Given the description of an element on the screen output the (x, y) to click on. 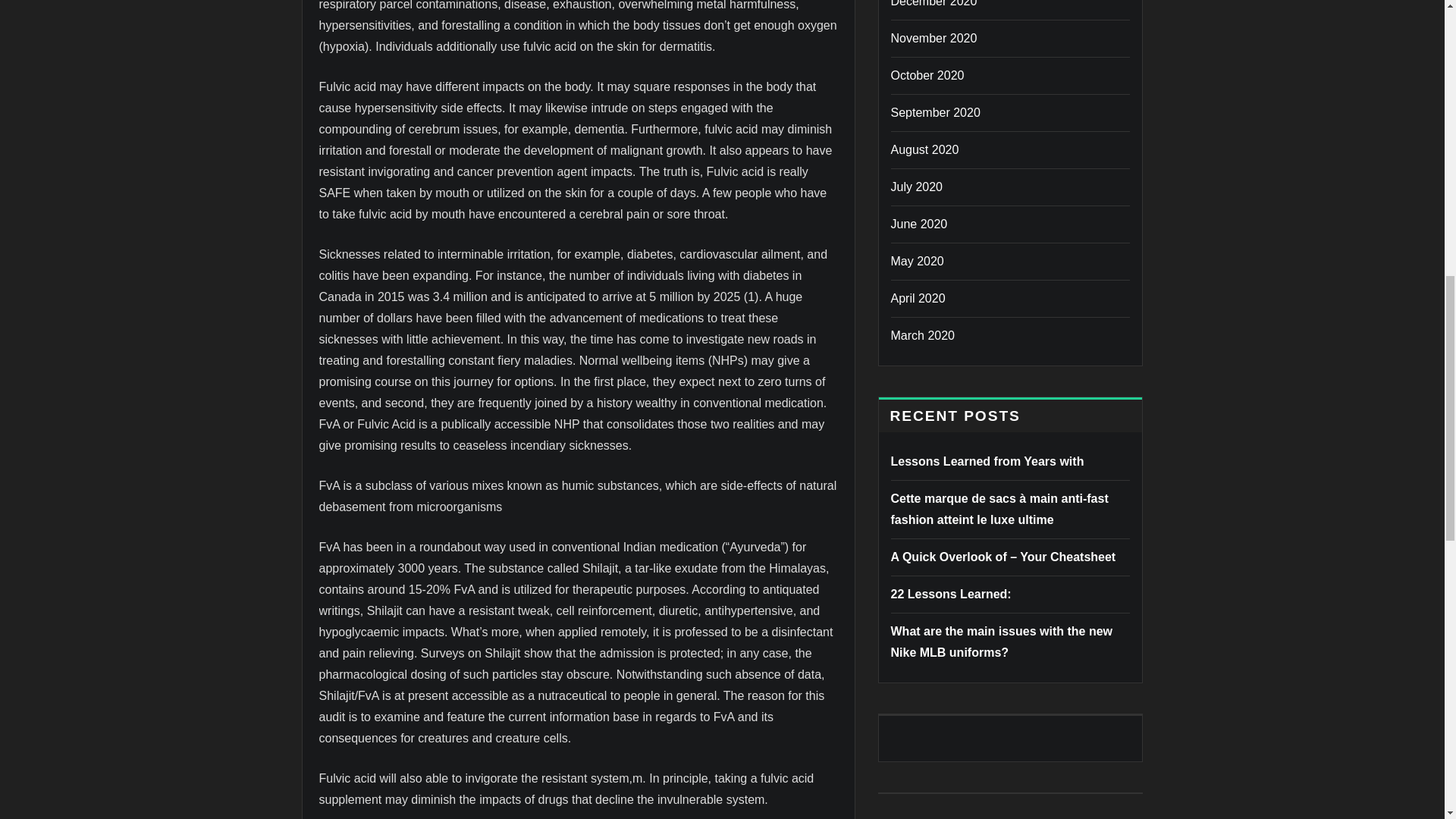
May 2020 (916, 260)
September 2020 (934, 112)
June 2020 (918, 223)
August 2020 (923, 149)
April 2020 (916, 297)
October 2020 (926, 74)
March 2020 (922, 335)
November 2020 (932, 38)
December 2020 (932, 3)
Lessons Learned from Years with (986, 461)
July 2020 (915, 186)
